Given the description of an element on the screen output the (x, y) to click on. 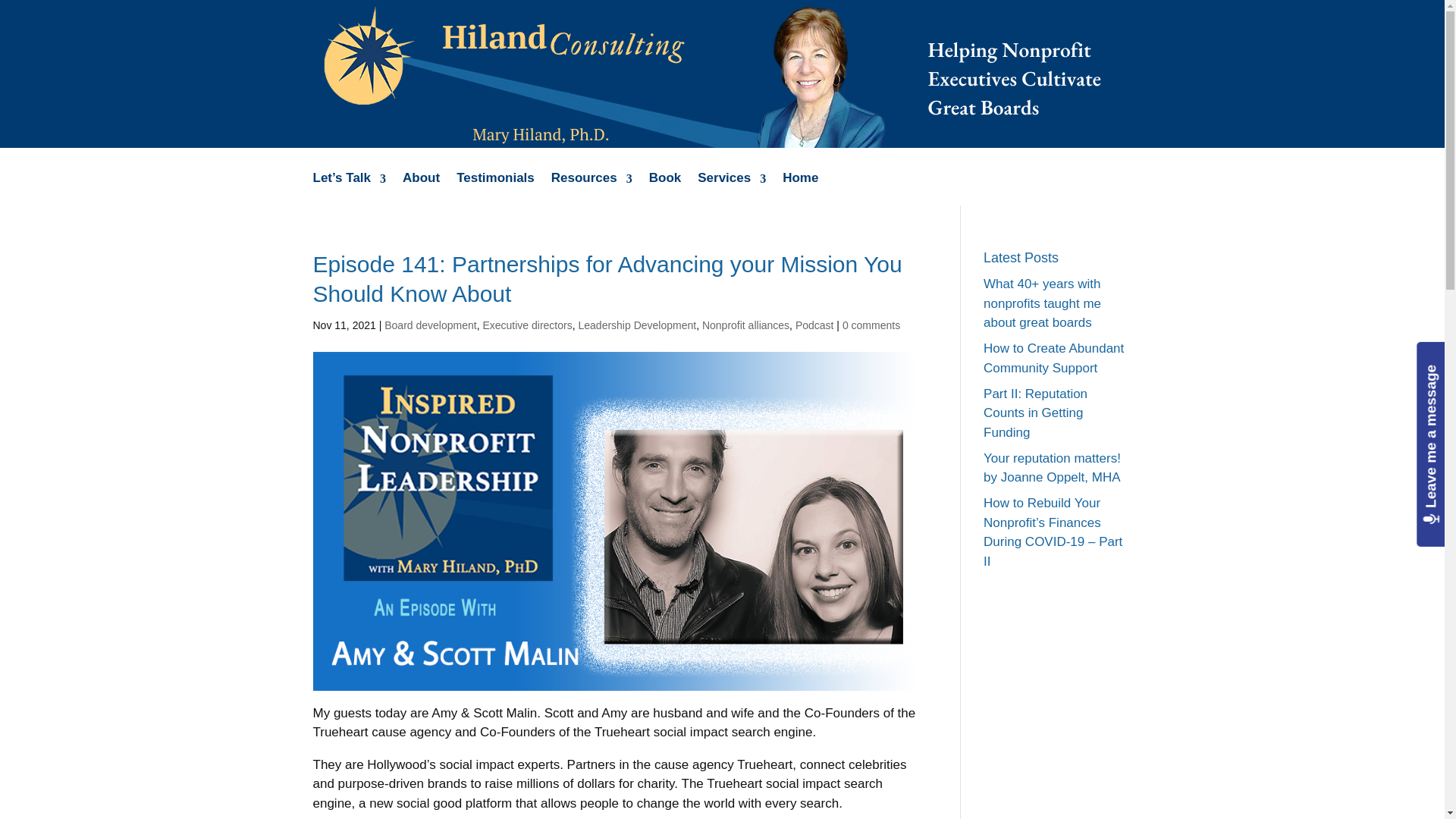
Testimonials (495, 188)
Resources (591, 188)
About (421, 188)
0 comments (871, 325)
Nonprofit alliances (745, 325)
Board development (430, 325)
Executive directors (526, 325)
Book (665, 188)
final2022 (710, 74)
Home (800, 188)
Services (731, 188)
Podcast (814, 325)
Leadership Development (636, 325)
